Given the description of an element on the screen output the (x, y) to click on. 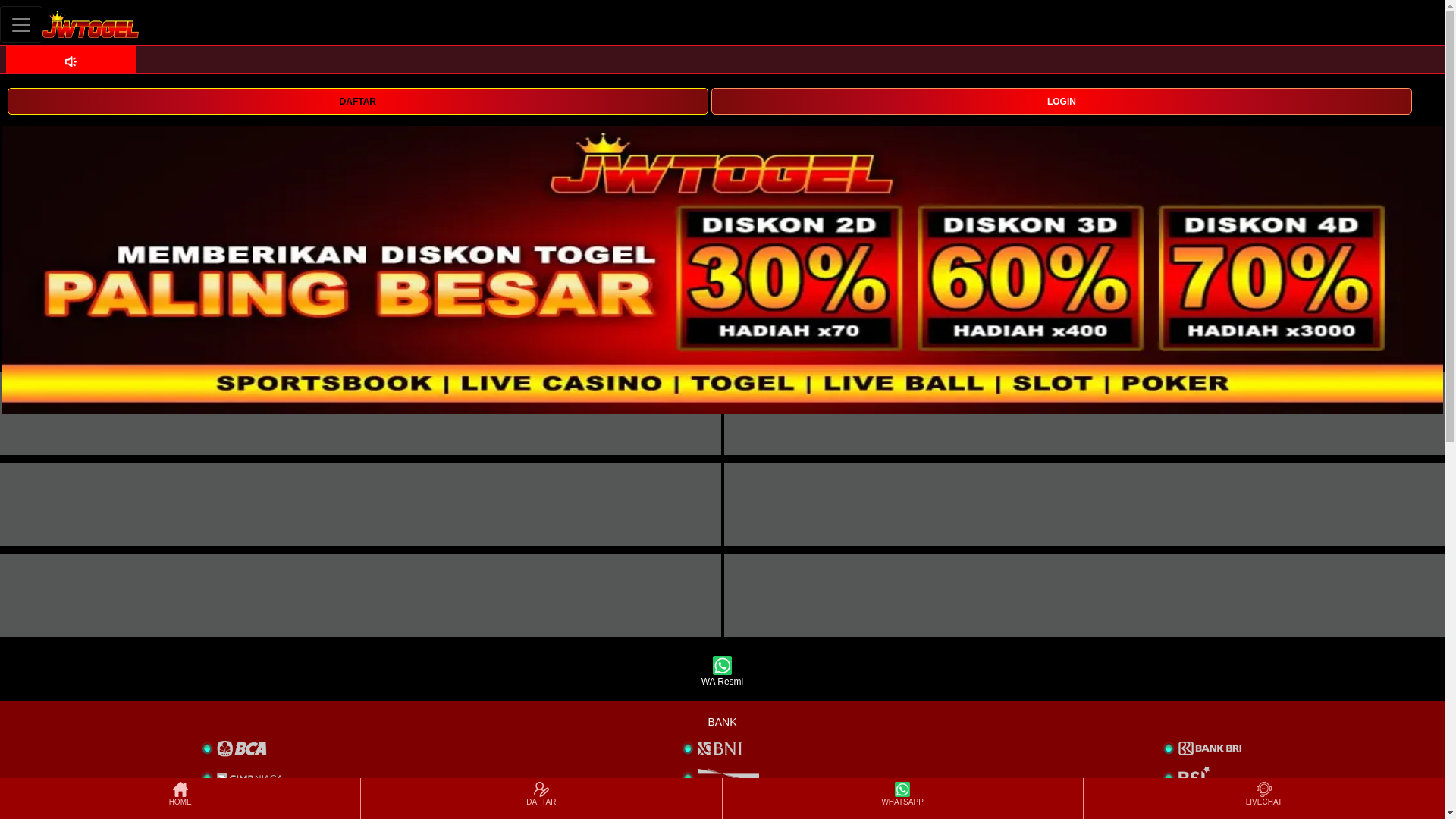
DAFTAR (357, 100)
WA Resmi (722, 672)
DAFTAR (357, 100)
DAFTAR (540, 798)
LOGIN (1061, 100)
HOME (179, 798)
WHATSAPP (901, 798)
LIVECHAT (1263, 798)
LOGIN (1061, 100)
